Given the description of an element on the screen output the (x, y) to click on. 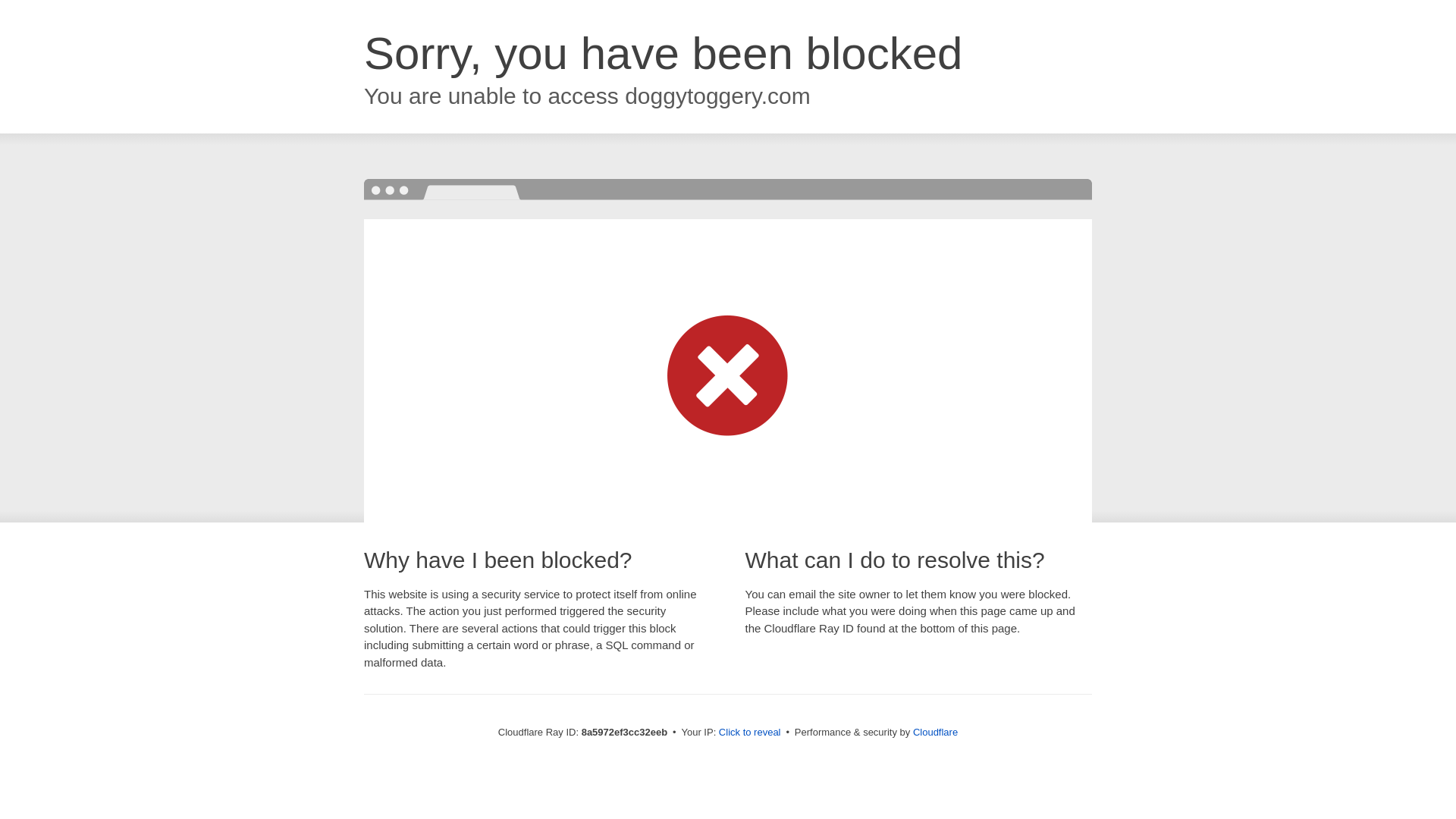
Click to reveal (749, 732)
Cloudflare (935, 731)
